Given the description of an element on the screen output the (x, y) to click on. 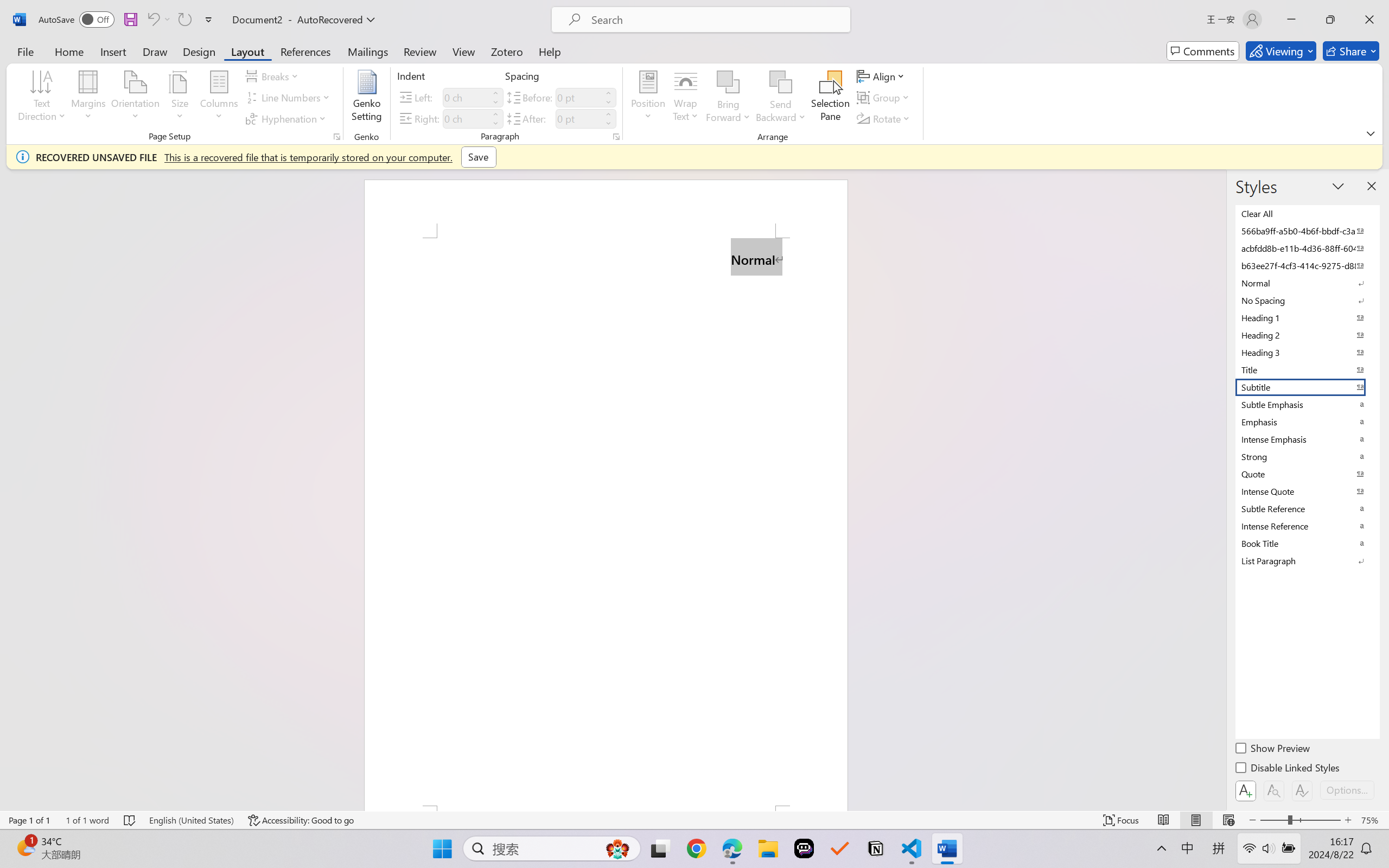
Subtitle (1306, 386)
Microsoft search (715, 19)
Subtle Reference (1306, 508)
Heading 1 (1306, 317)
Class: MsoCommandBar (694, 819)
Heading 2 (1306, 334)
Class: NetUIButton (1301, 790)
